Given the description of an element on the screen output the (x, y) to click on. 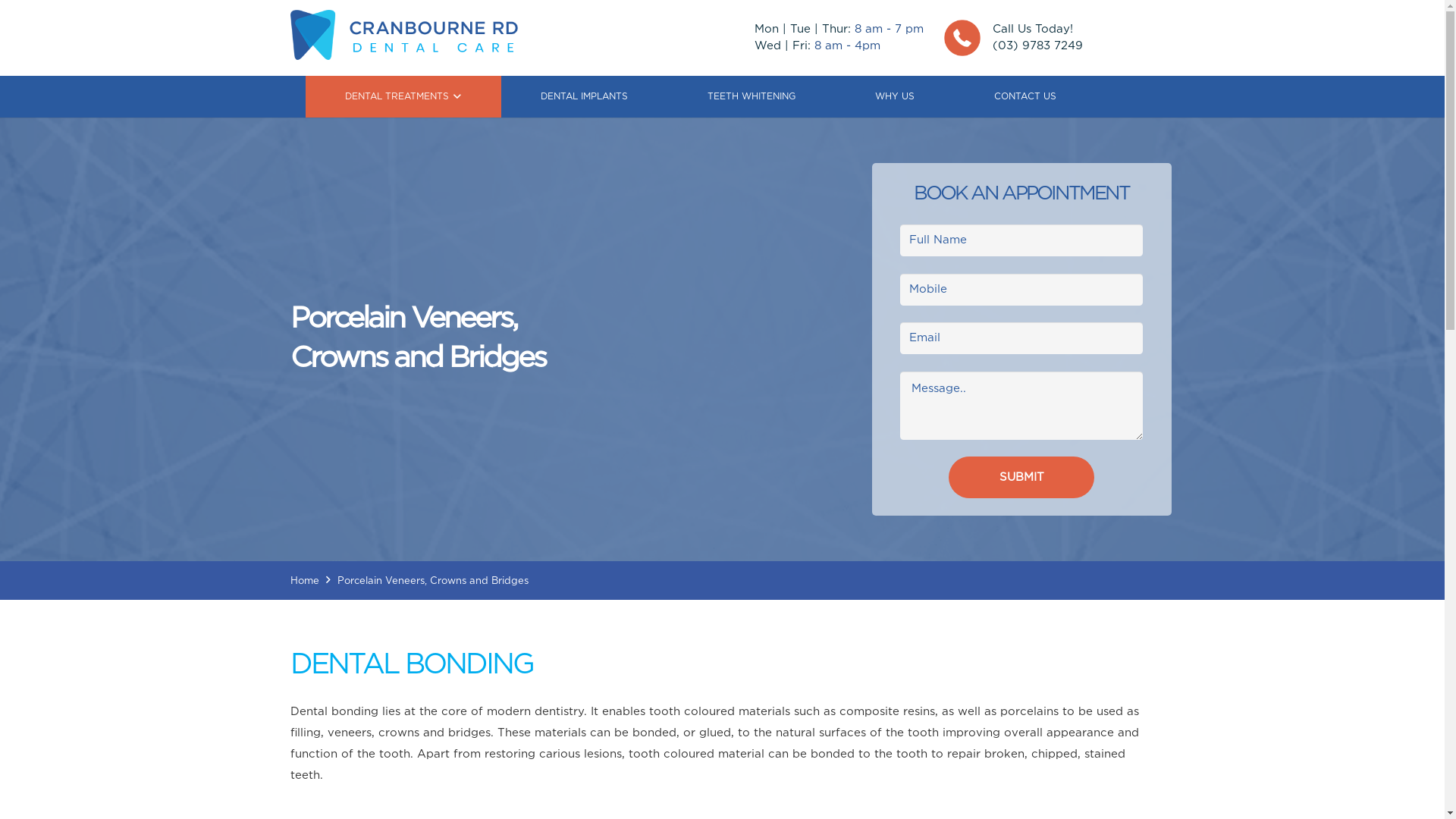
Porcelain Veneers, Crowns and Bridges Element type: text (431, 581)
CONTACT US Element type: text (1025, 96)
TEETH WHITENING Element type: text (751, 96)
(03) 9783 7249 Element type: text (1036, 45)
8 am - 7 pm Element type: text (887, 29)
WHY US Element type: text (894, 96)
Submit Element type: text (1021, 477)
DENTAL IMPLANTS Element type: text (584, 96)
8 am - 4pm Element type: text (847, 45)
DENTAL TREATMENTS Element type: text (402, 96)
Home Element type: text (303, 581)
Call Us Today! Element type: text (1031, 29)
Frankston Dentist Element type: hover (403, 34)
